Given the description of an element on the screen output the (x, y) to click on. 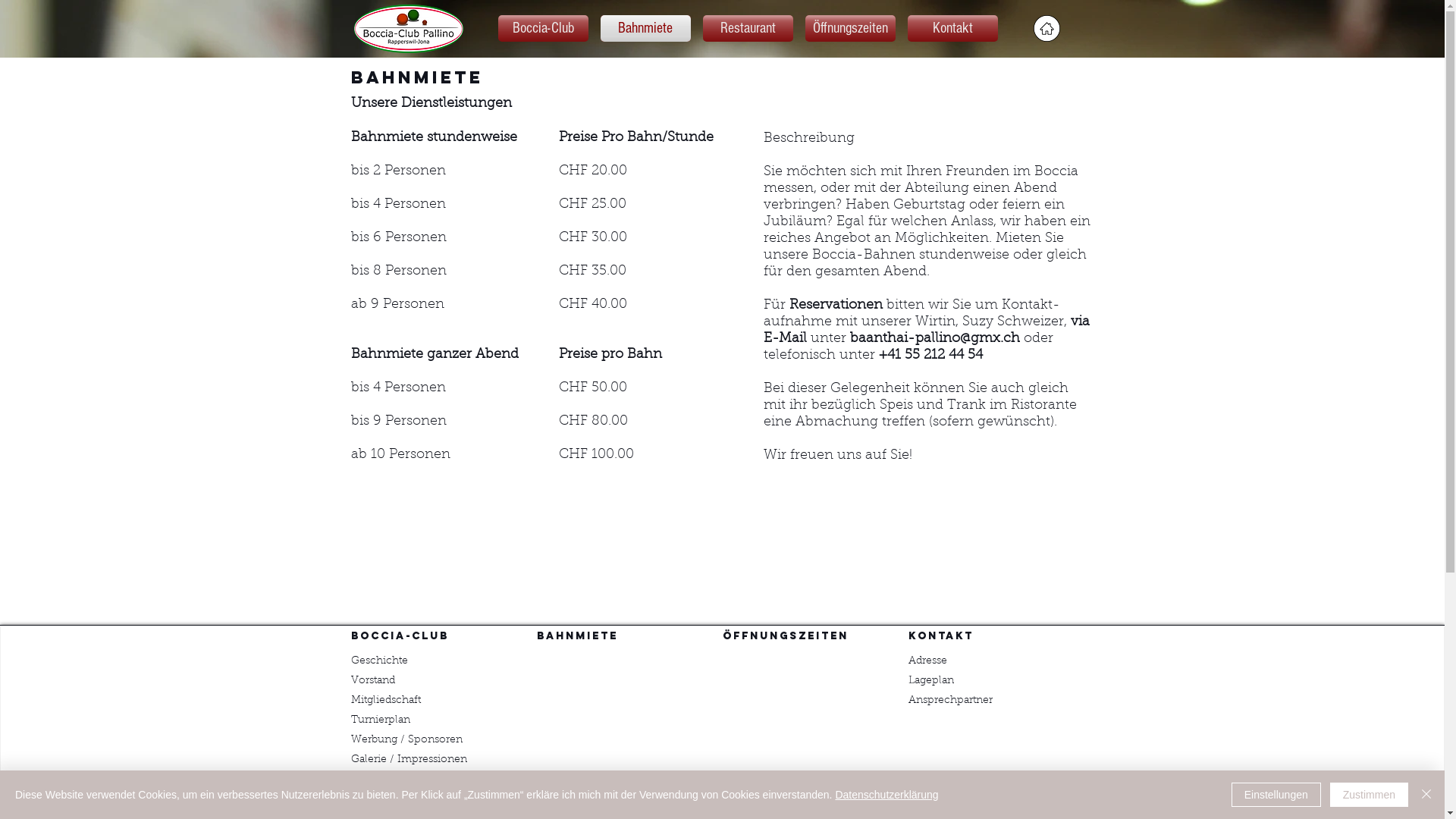
Bahnmiete Element type: text (645, 28)
Mitgliedschaft Element type: text (385, 698)
Restaurant Element type: text (747, 28)
Logo nach GV.png Element type: hover (407, 28)
Werbung / Sponsoren Element type: text (405, 737)
Zustimmen Element type: text (1369, 794)
Boccia-Club Element type: text (542, 28)
Lageplan Element type: text (930, 678)
baanthai-pallino@gmx.ch Element type: text (934, 338)
BAHnmiete Element type: text (577, 635)
Geschichte Element type: text (378, 660)
Einstellungen Element type: text (1276, 794)
Ansprechpartner Element type: text (950, 698)
KOntakt Element type: text (940, 635)
Turnierplan Element type: text (379, 717)
Kontakt Element type: text (951, 28)
Vorstand Element type: text (372, 678)
Boccia-club Element type: text (399, 635)
Galerie / Impressionen Element type: text (408, 757)
Adresse Element type: text (927, 658)
